Given the description of an element on the screen output the (x, y) to click on. 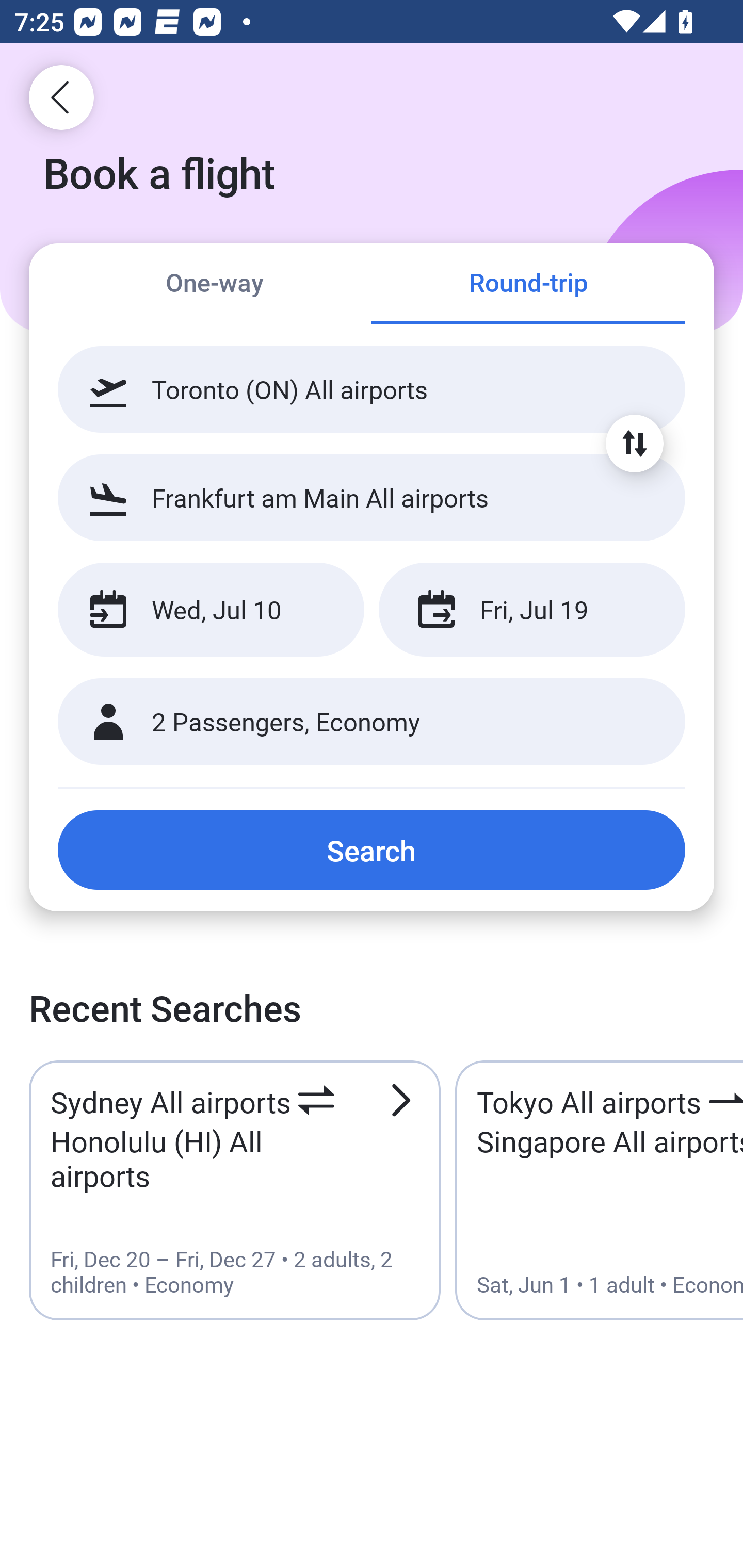
One-way (214, 284)
Toronto (ON) All airports (371, 389)
Frankfurt am Main All airports (371, 497)
Wed, Jul 10 (210, 609)
Fri, Jul 19 (531, 609)
2 Passengers, Economy (371, 721)
Search (371, 849)
